Given the description of an element on the screen output the (x, y) to click on. 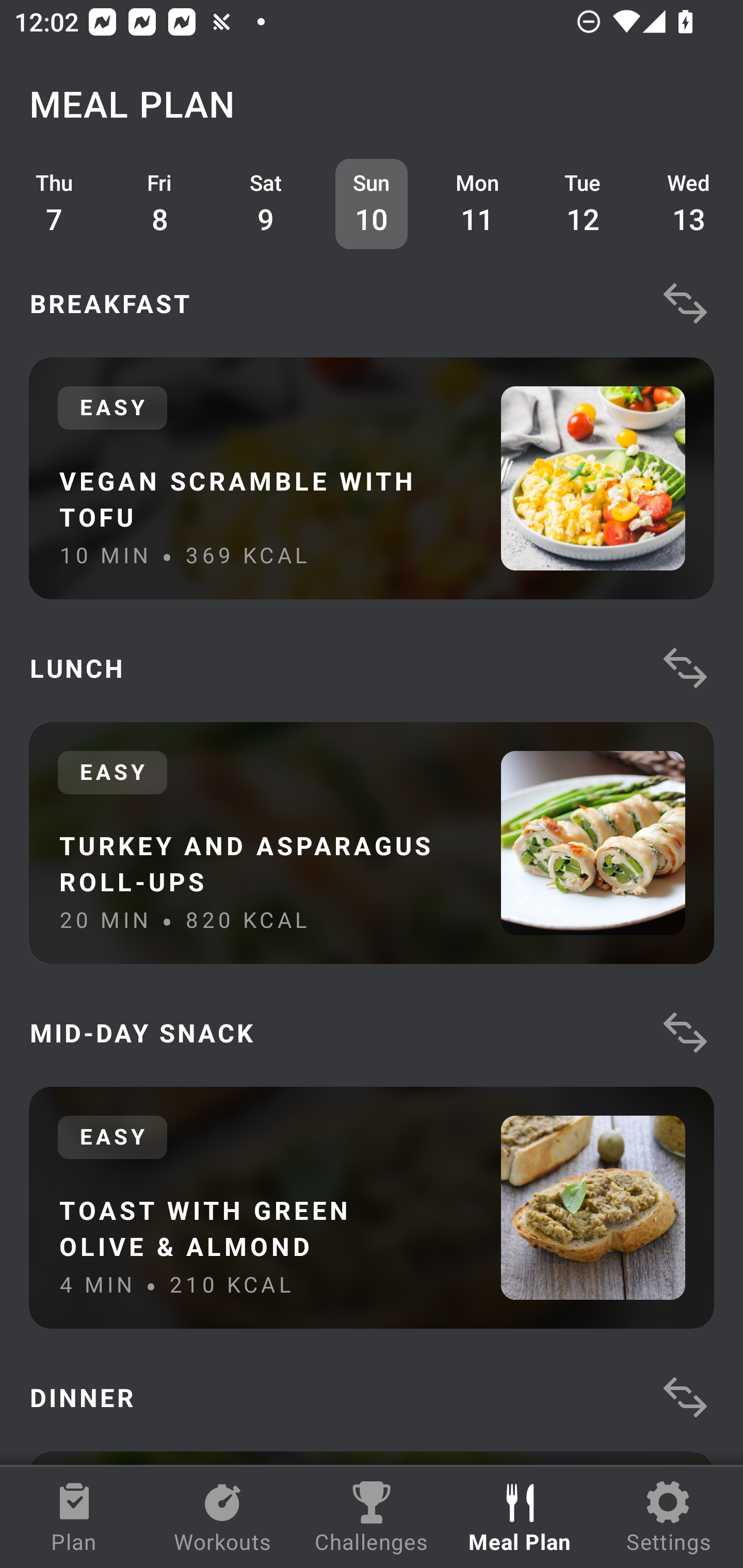
Thu 7 (53, 203)
Fri 8 (159, 203)
Sat 9 (265, 203)
Sun 10 (371, 203)
Mon 11 (477, 203)
Tue 12 (583, 203)
Wed 13 (689, 203)
EASY VEGAN SCRAMBLE WITH TOFU 10 MIN • 369 KCAL (371, 477)
 Plan  (74, 1517)
 Workouts  (222, 1517)
 Challenges  (371, 1517)
 Settings  (668, 1517)
